Given the description of an element on the screen output the (x, y) to click on. 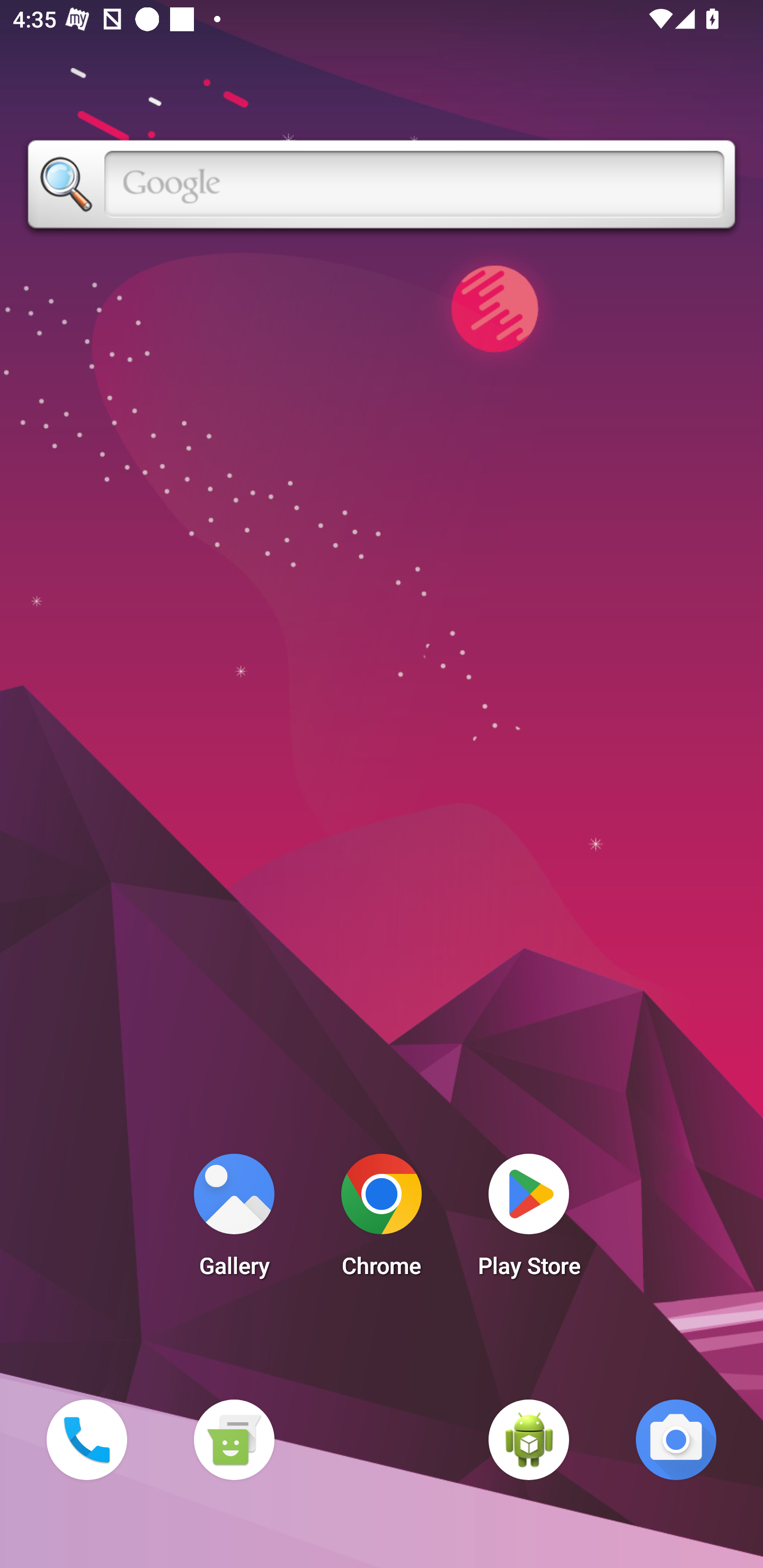
Gallery (233, 1220)
Chrome (381, 1220)
Play Store (528, 1220)
Phone (86, 1439)
Messaging (233, 1439)
WebView Browser Tester (528, 1439)
Camera (676, 1439)
